Given the description of an element on the screen output the (x, y) to click on. 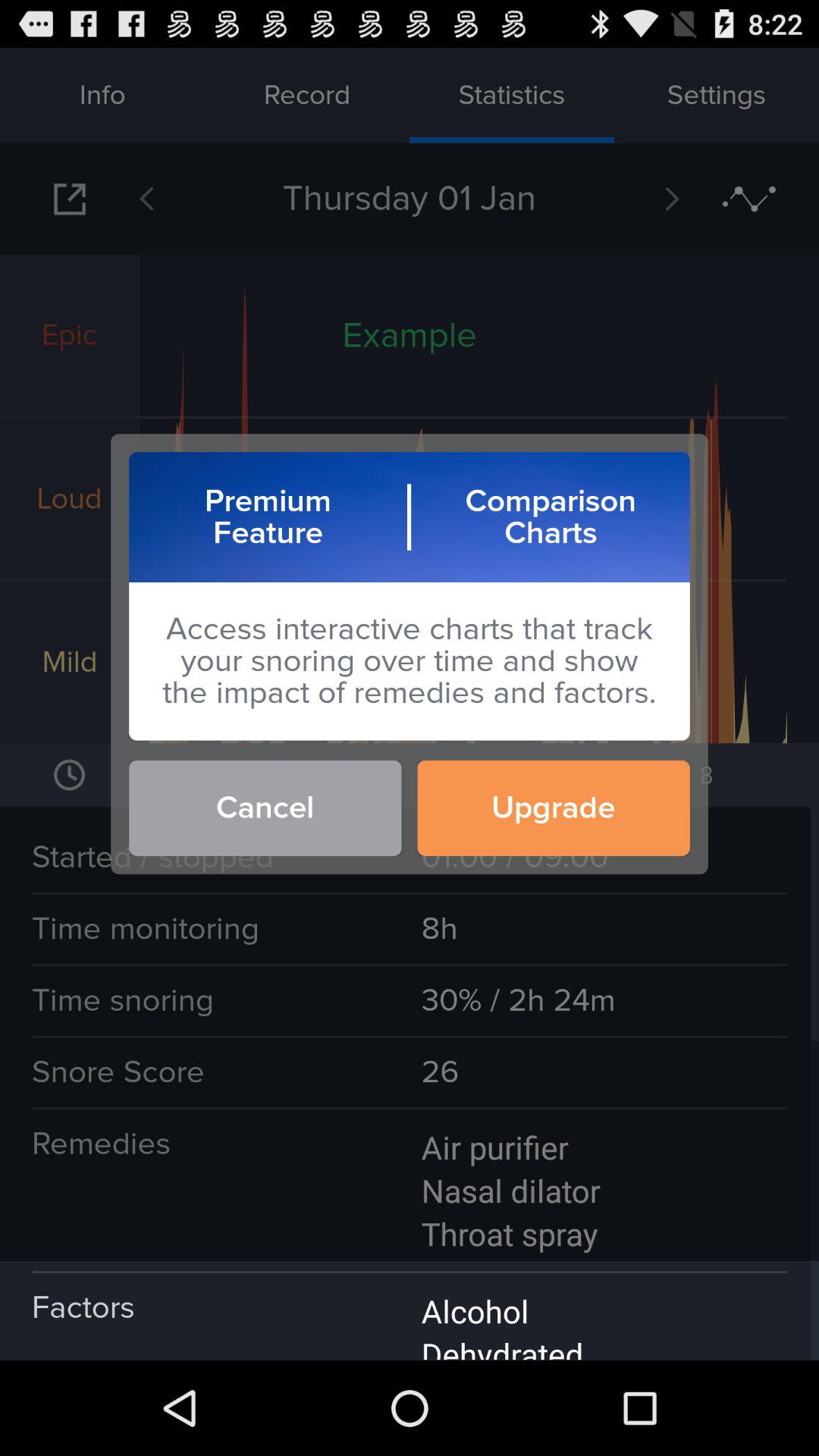
turn on cancel button (265, 807)
